Given the description of an element on the screen output the (x, y) to click on. 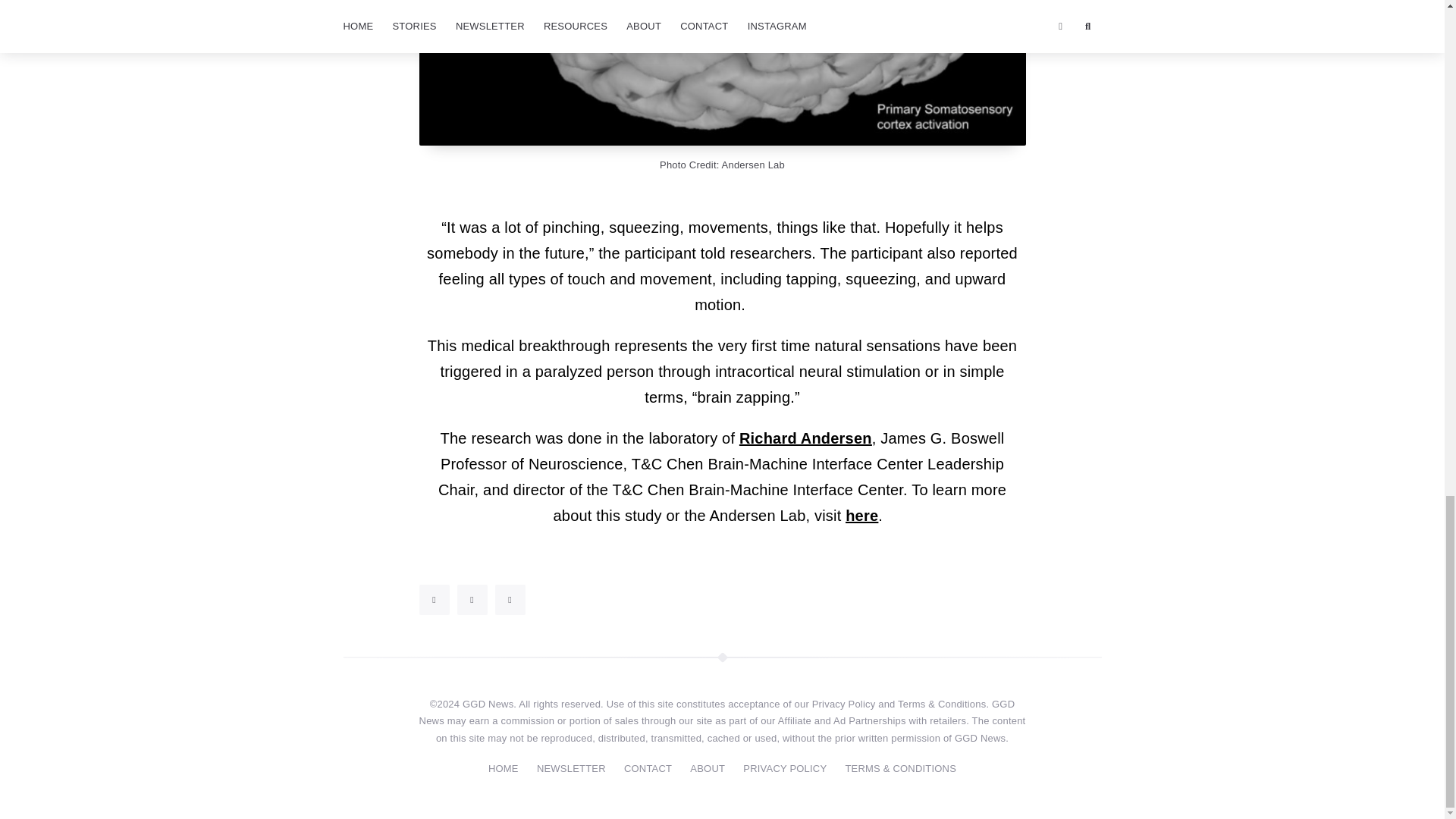
Richard Andersen (805, 437)
Share on Reddit (509, 599)
here (861, 515)
Share on Facebook (471, 599)
Share on Twitter (433, 599)
